Given the description of an element on the screen output the (x, y) to click on. 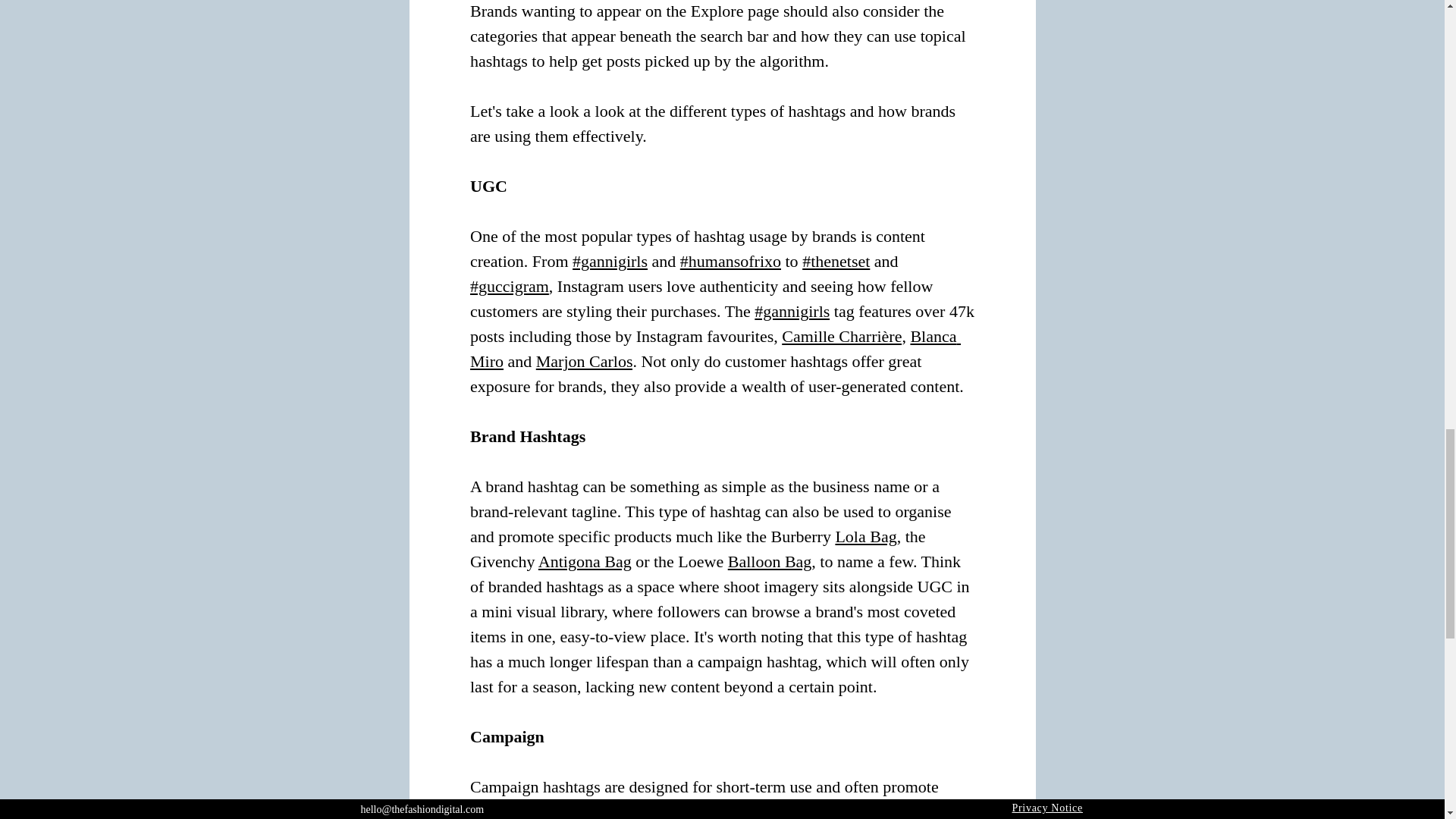
Balloon Bag (768, 561)
Lola Bag (865, 536)
Blanca Miro (715, 348)
Antigona Bag (583, 561)
Marjon Carlos (583, 361)
